Given the description of an element on the screen output the (x, y) to click on. 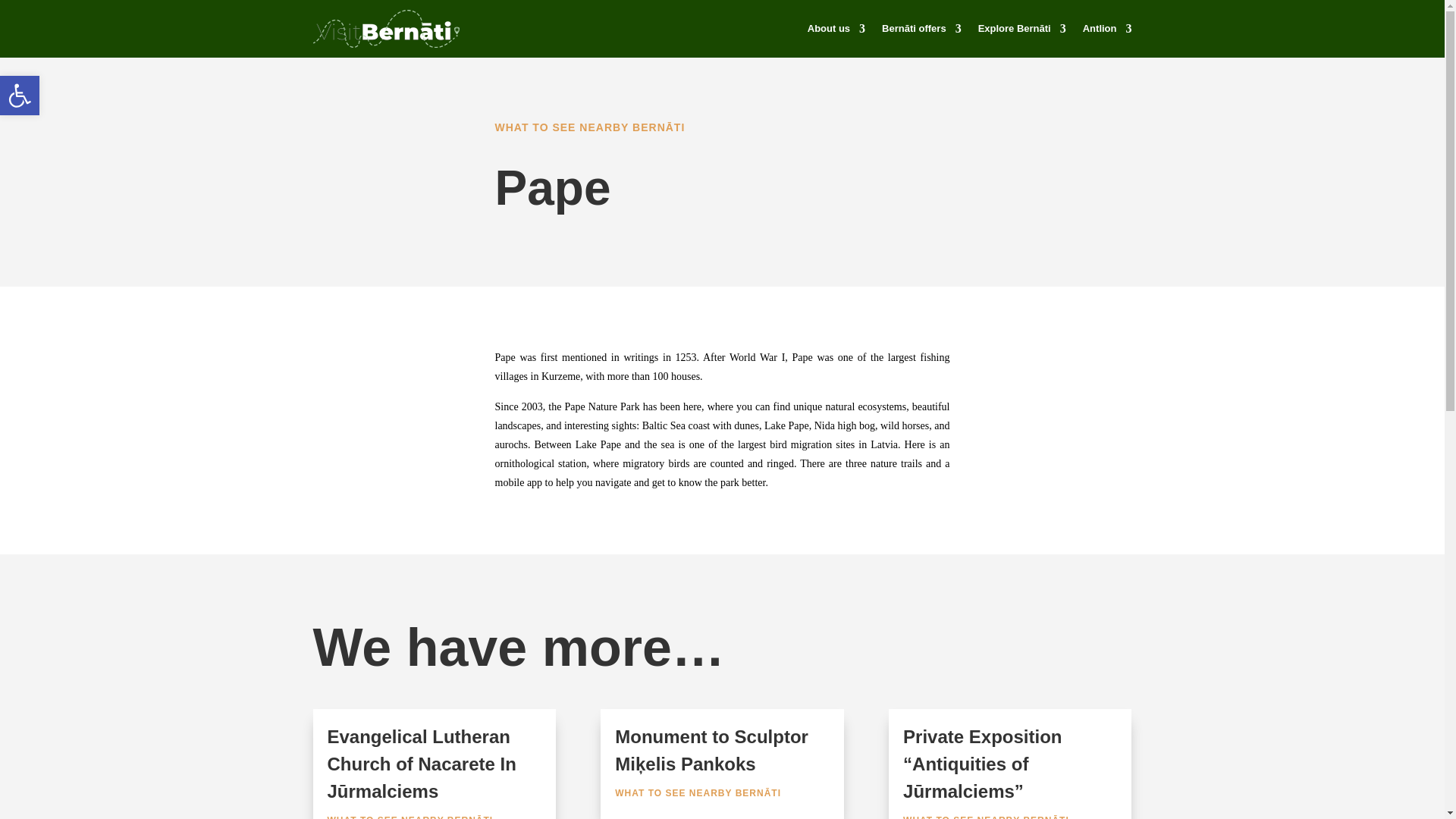
Open toolbar (19, 95)
About us (836, 28)
